Given the description of an element on the screen output the (x, y) to click on. 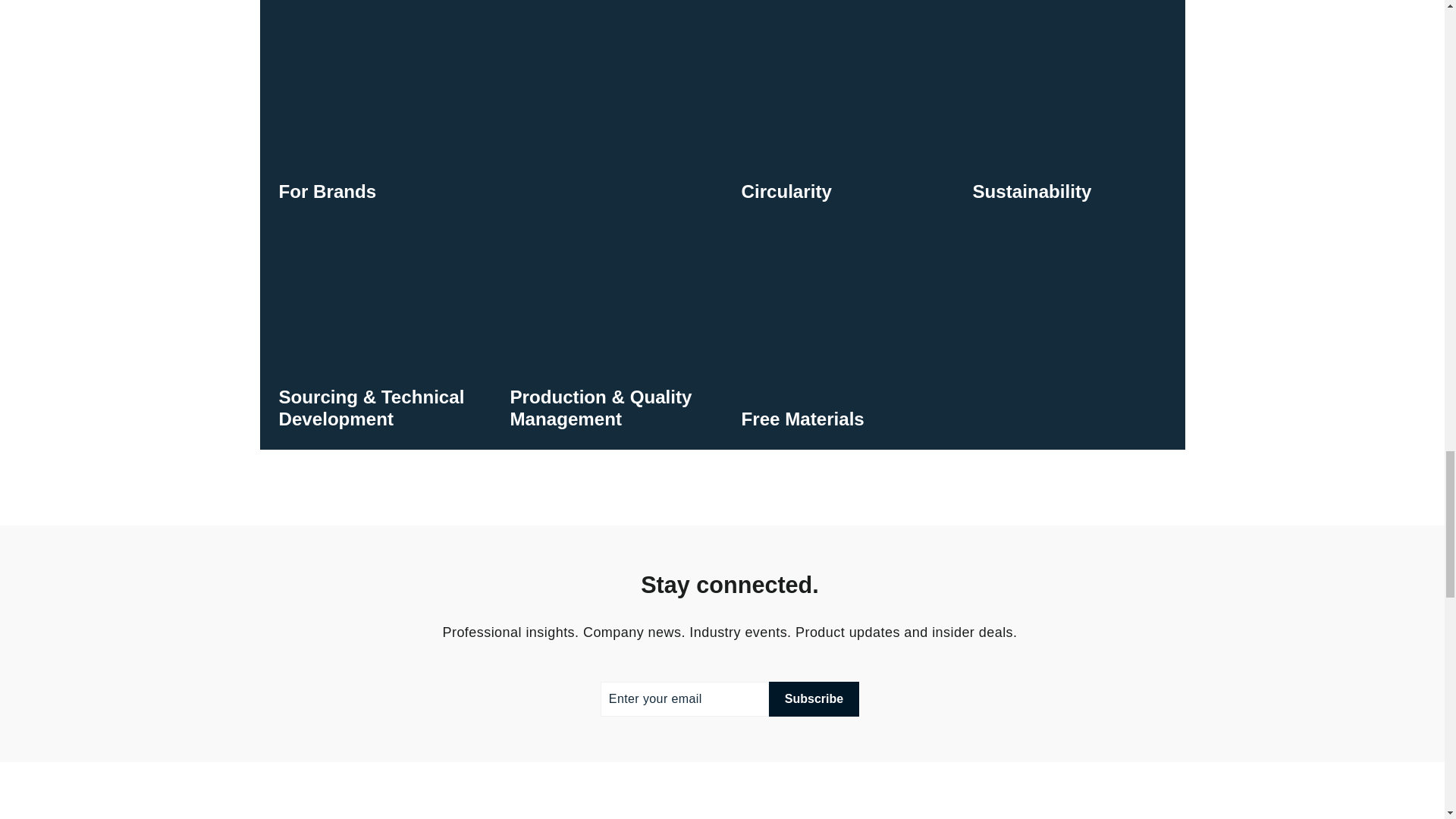
Circularity (837, 110)
Sustainability (1069, 110)
For Brands (490, 110)
